Given the description of an element on the screen output the (x, y) to click on. 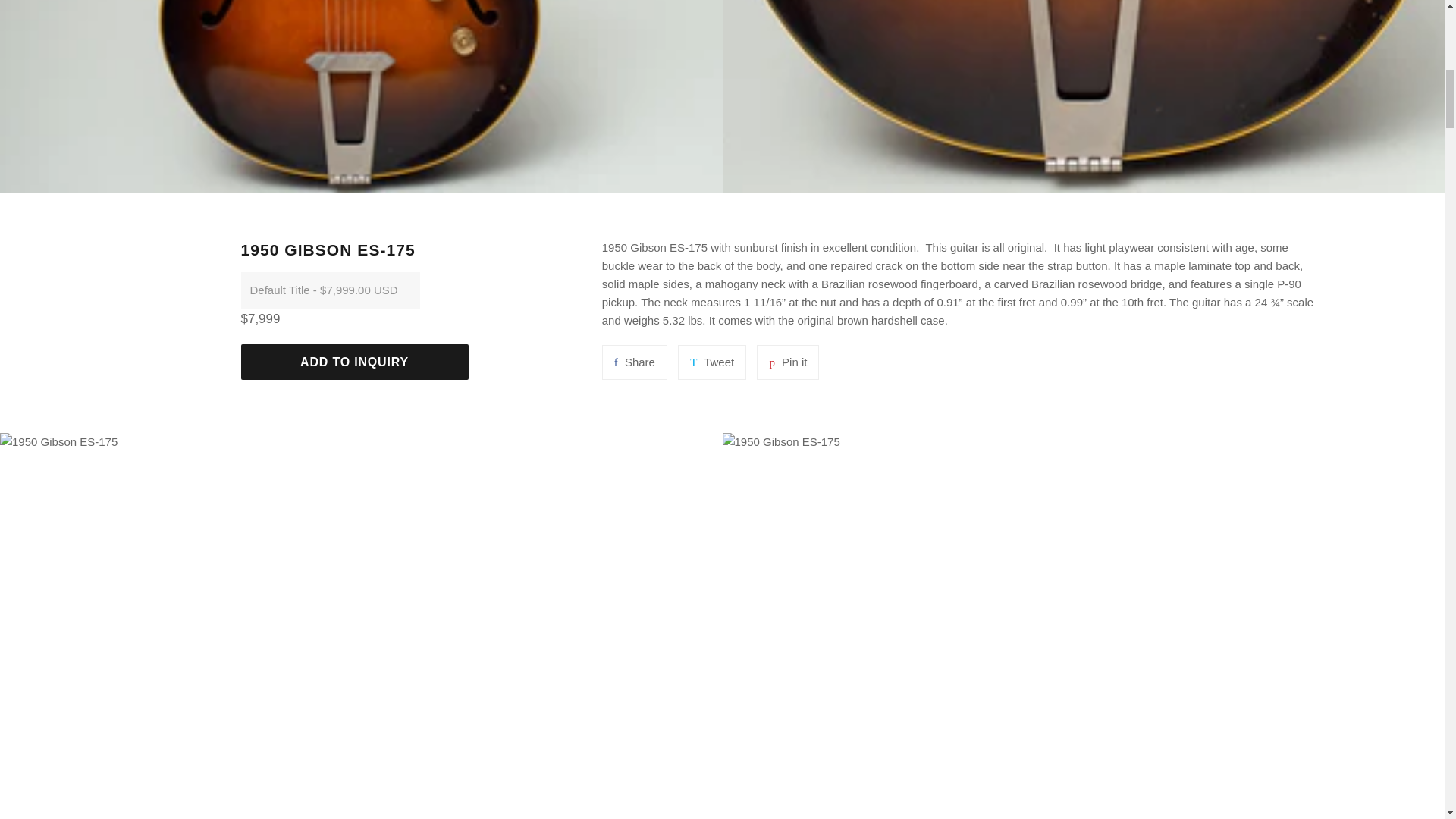
Tweet on Twitter (634, 362)
Share on Facebook (787, 362)
ADD TO INQUIRY (711, 362)
Pin on Pinterest (711, 362)
